Given the description of an element on the screen output the (x, y) to click on. 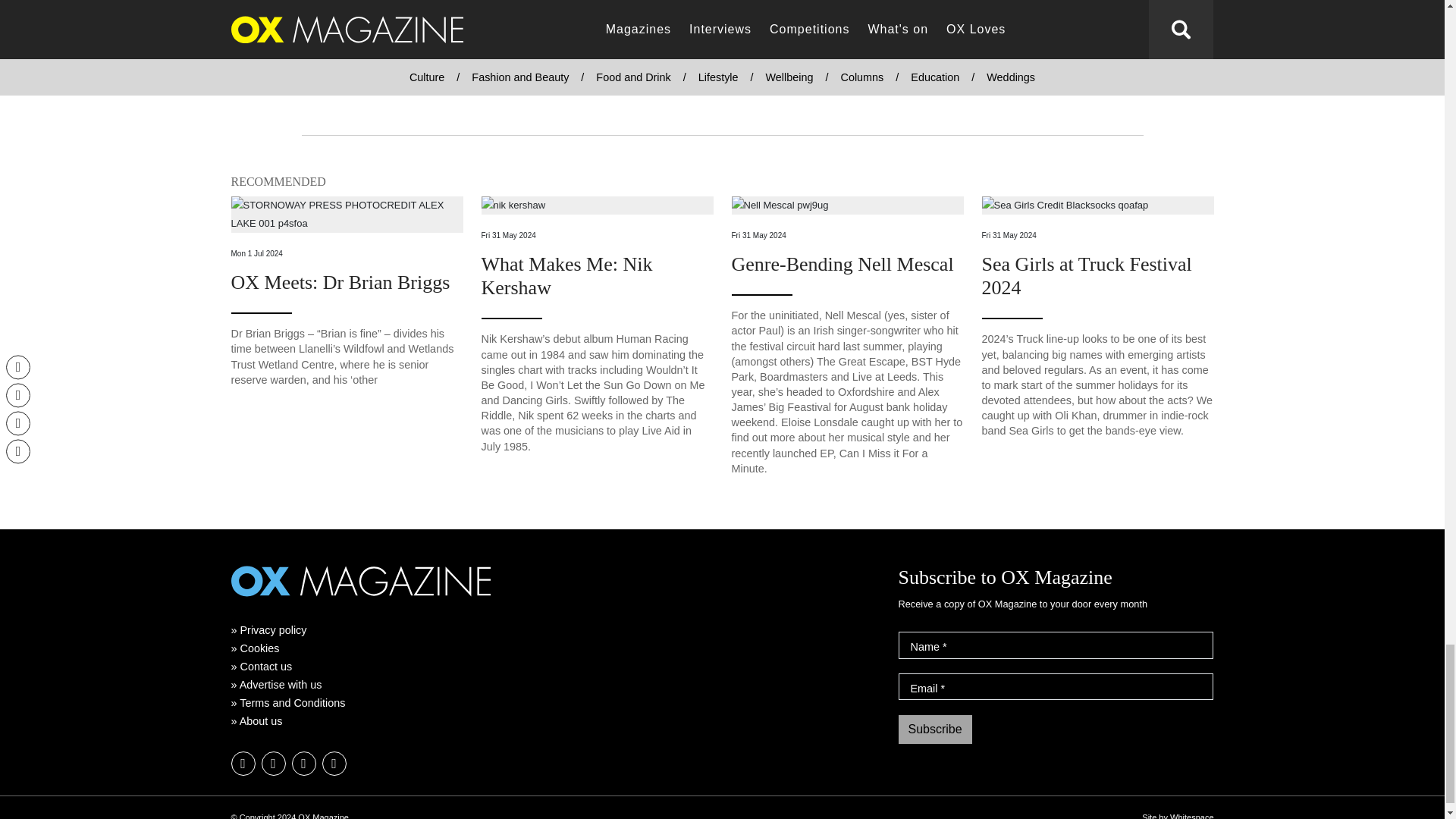
This field is required (942, 688)
Creation Theatre Creating Christmas Magic  (318, 24)
This field is required (944, 646)
